Given the description of an element on the screen output the (x, y) to click on. 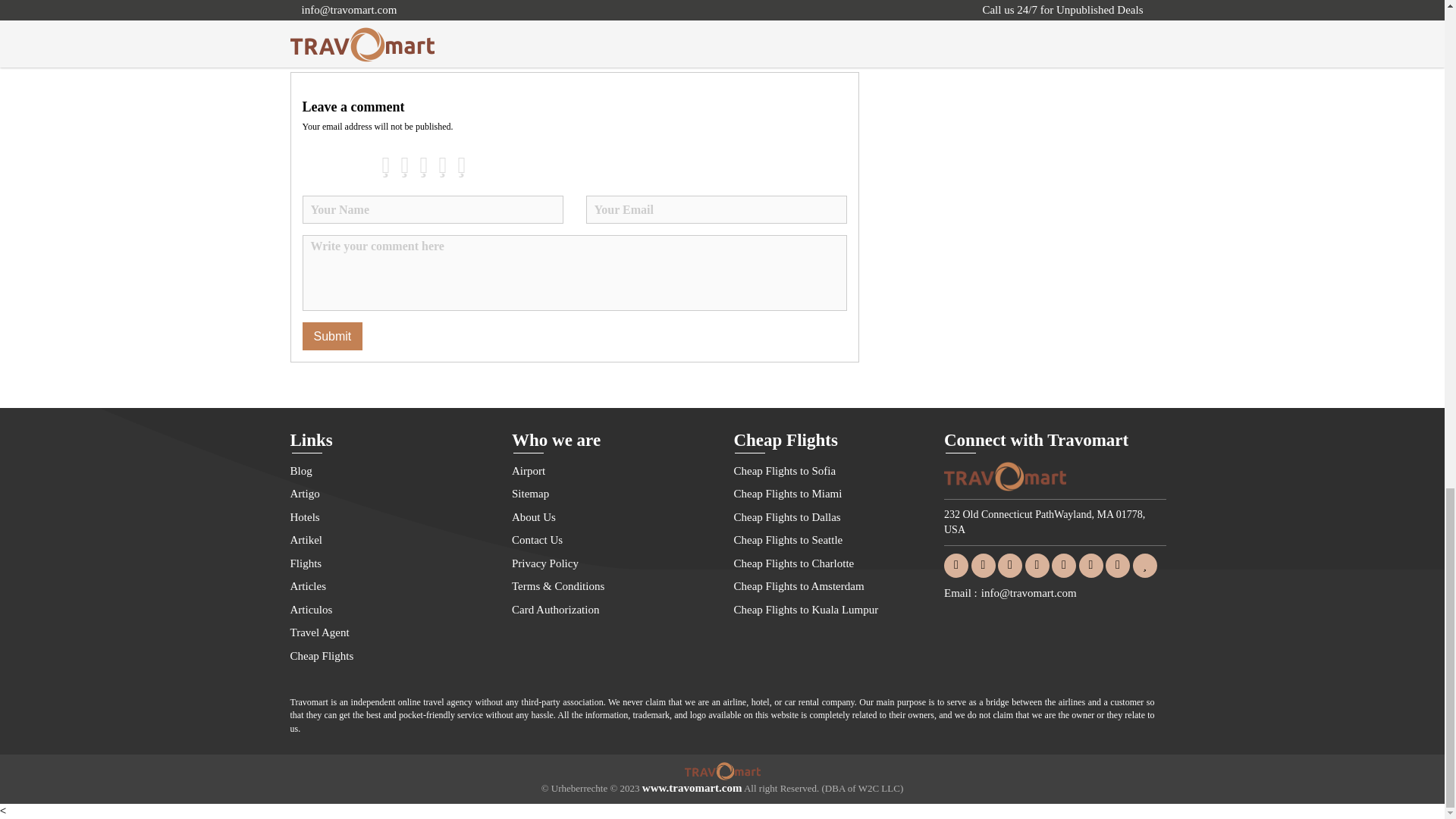
Submit (331, 336)
Travel Agent (388, 632)
Artikel (388, 540)
Blog (388, 471)
Cheap Flights to Miami (832, 494)
Invalid email address (715, 209)
Airport (611, 471)
Trust Pilot (1144, 564)
Youtube (1090, 564)
Instagram (1063, 564)
Flights (388, 564)
Hotels (388, 517)
Cheap Flights to Charlotte (832, 564)
Twitter (982, 564)
Sitemap (611, 494)
